Given the description of an element on the screen output the (x, y) to click on. 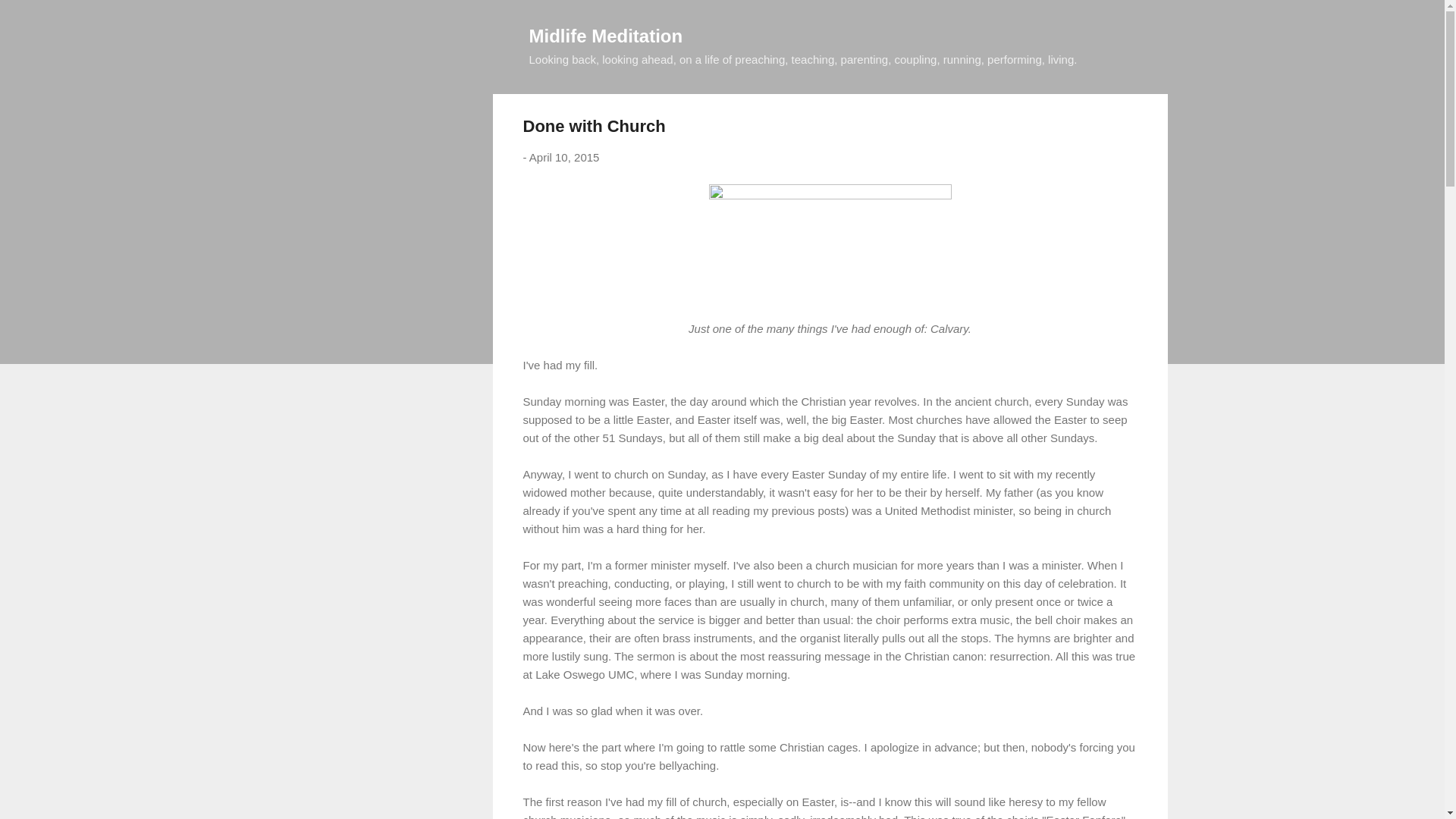
permanent link (564, 156)
Midlife Meditation (605, 35)
Search (29, 18)
April 10, 2015 (564, 156)
